Given the description of an element on the screen output the (x, y) to click on. 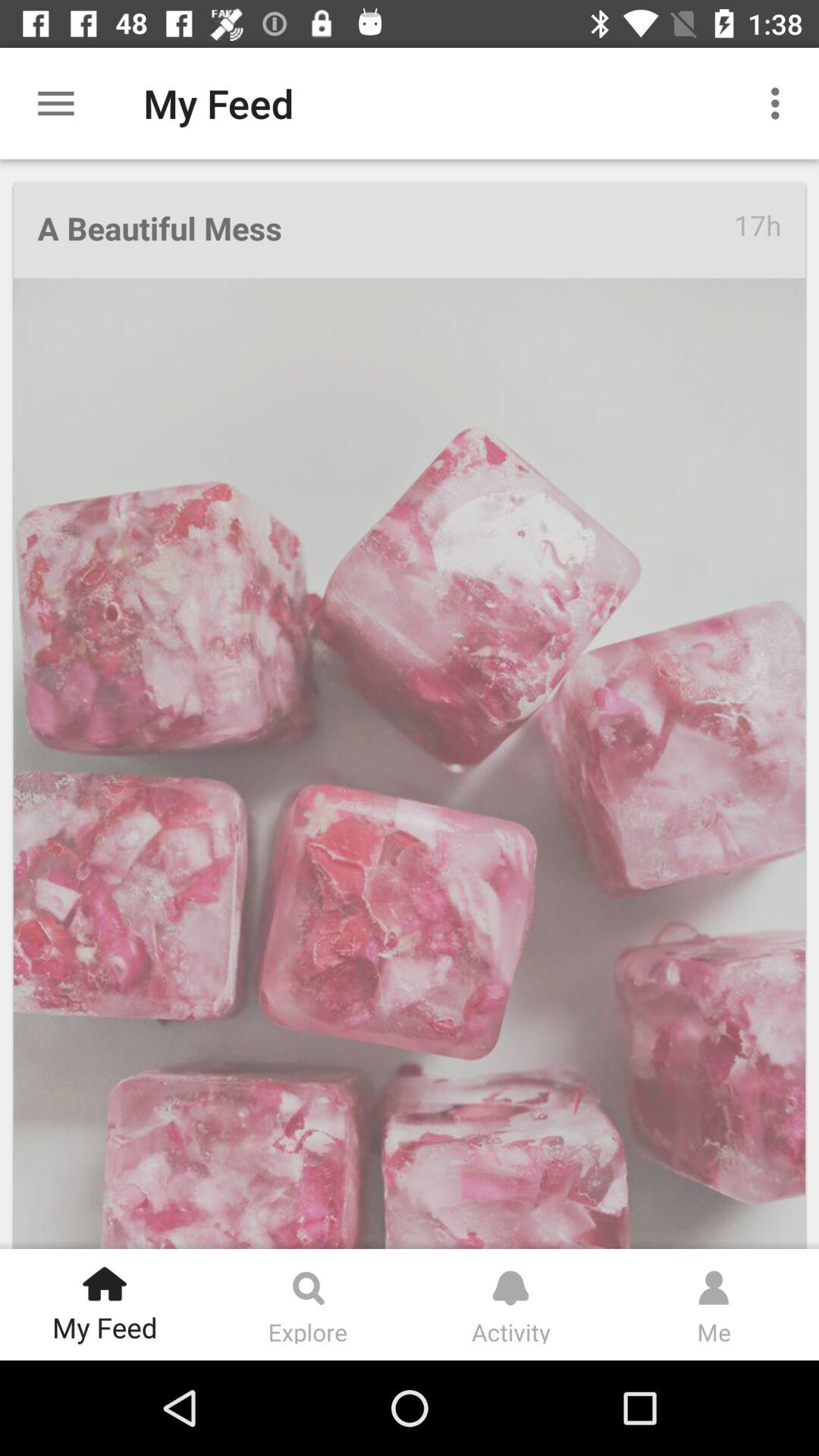
click item to the left of the 17h (385, 230)
